Given the description of an element on the screen output the (x, y) to click on. 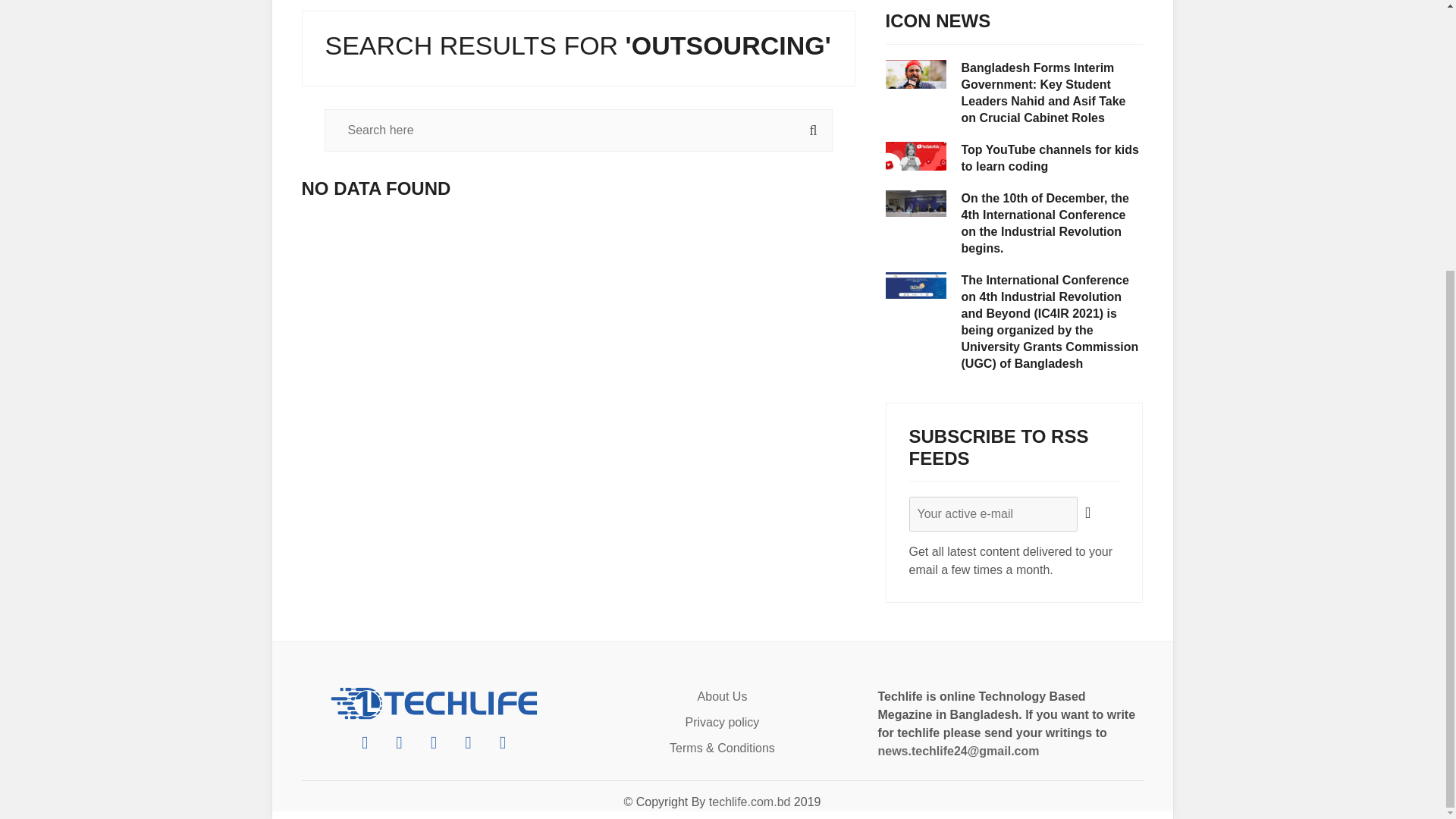
Top YouTube channels for kids to learn coding (1051, 158)
Privacy policy (722, 722)
About Us (722, 696)
